Given the description of an element on the screen output the (x, y) to click on. 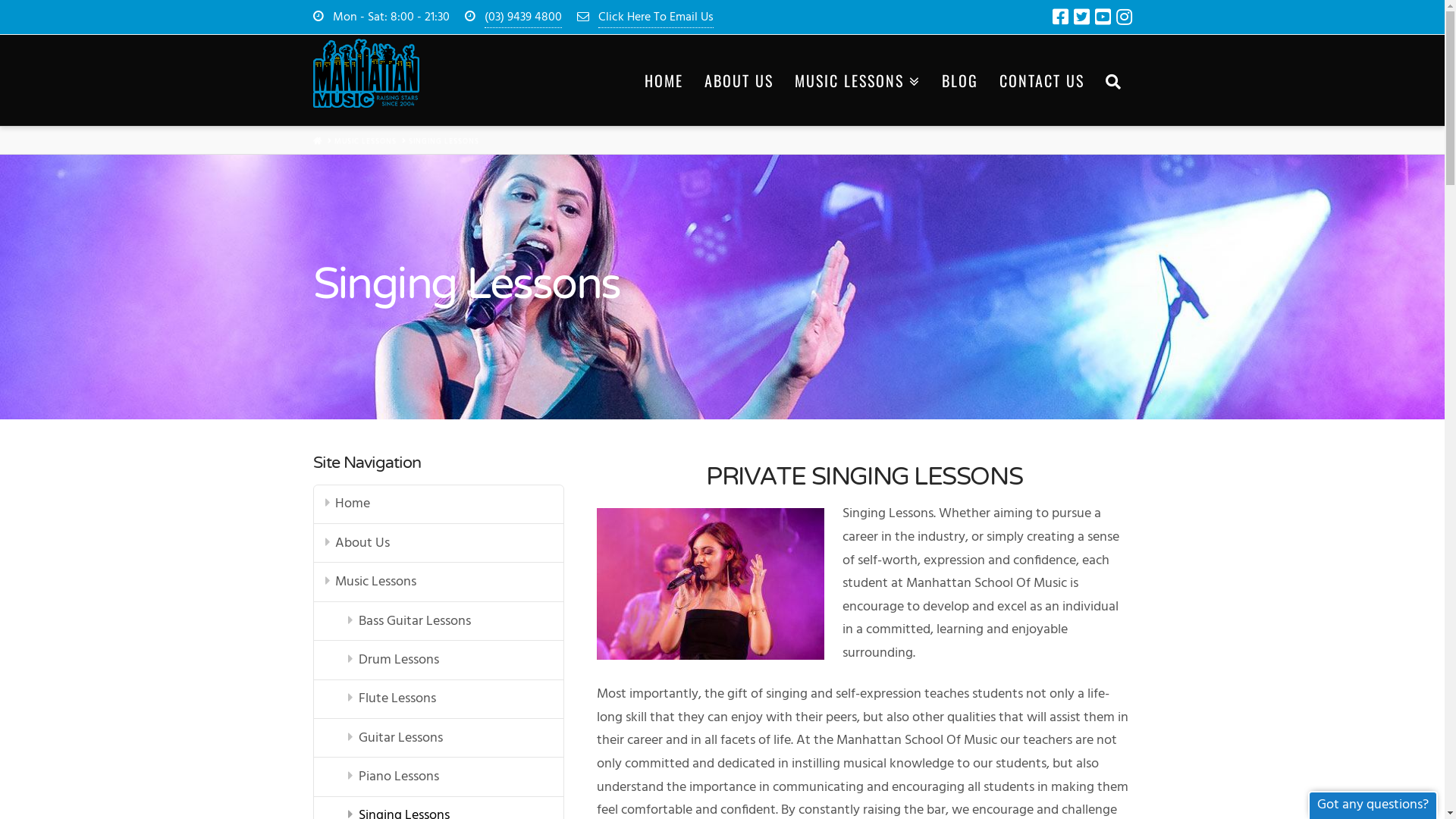
Guitar Lessons Element type: text (438, 737)
MUSIC LESSONS Element type: text (855, 79)
Click Here To Email Us Element type: text (654, 17)
Bass Guitar Lessons Element type: text (438, 621)
HOME Element type: text (662, 79)
YouTube Element type: hover (1102, 16)
Music Lessons Element type: text (438, 581)
SINGING LESSONS Element type: text (442, 139)
CONTACT US Element type: text (1040, 79)
About Us Element type: text (438, 543)
Drum Lessons Element type: text (438, 659)
Twitter Element type: hover (1081, 16)
(03) 9439 4800 Element type: text (522, 17)
Instagram Element type: hover (1124, 16)
Facebook Element type: hover (1060, 16)
HOME Element type: text (316, 140)
Home Element type: text (438, 504)
Flute Lessons Element type: text (438, 699)
ABOUT US Element type: text (738, 79)
BLOG Element type: text (958, 79)
Piano Lessons Element type: text (438, 776)
MUSIC LESSONS Element type: text (364, 139)
